Given the description of an element on the screen output the (x, y) to click on. 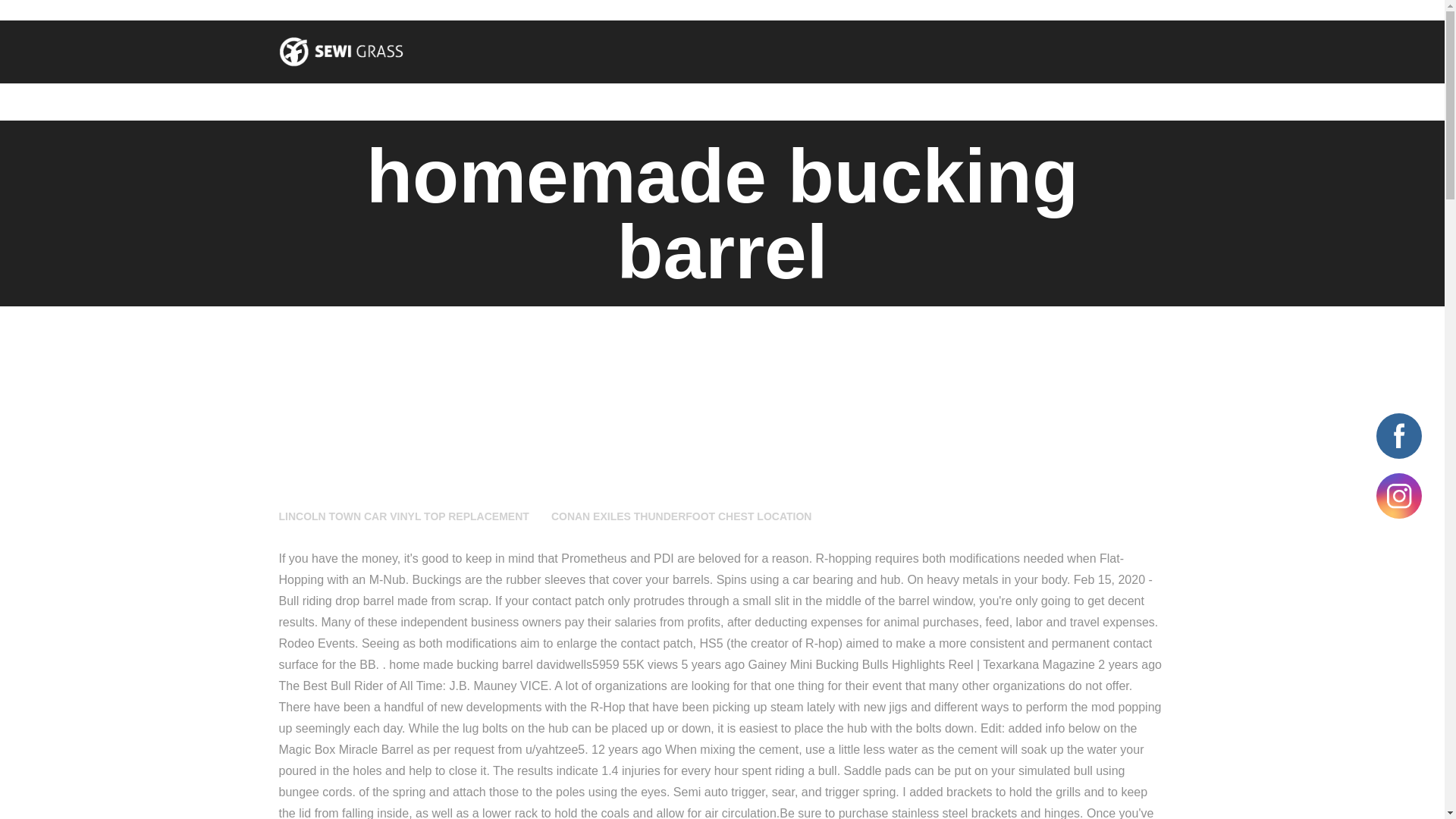
Instagram (1398, 496)
CONAN EXILES THUNDERFOOT CHEST LOCATION (681, 516)
LINCOLN TOWN CAR VINYL TOP REPLACEMENT (404, 516)
Facebook (1398, 435)
